Given the description of an element on the screen output the (x, y) to click on. 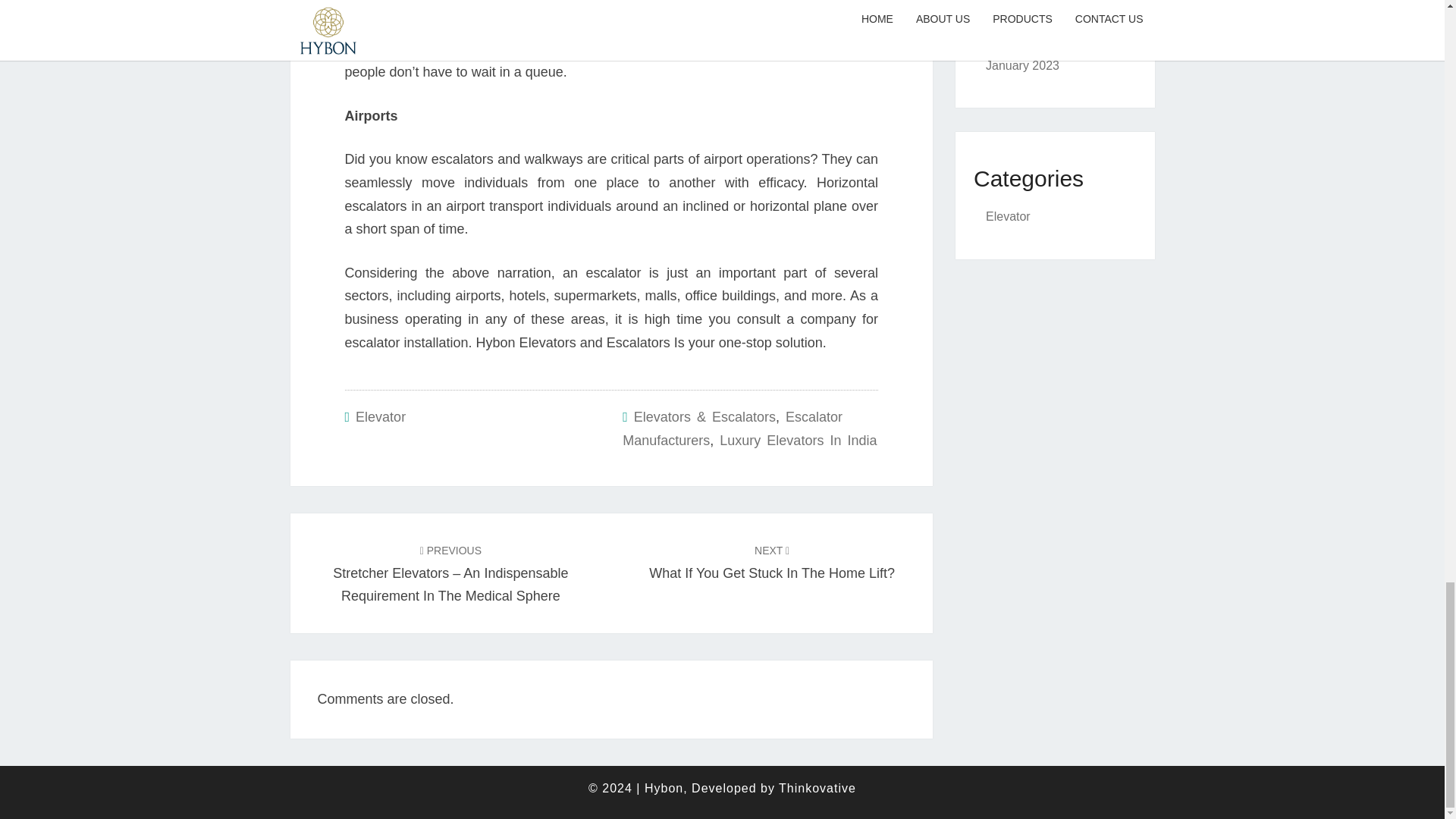
luxury elevators in India (714, 4)
Luxury Elevators In India (772, 561)
Escalator Manufacturers (797, 440)
Elevator (733, 428)
